Given the description of an element on the screen output the (x, y) to click on. 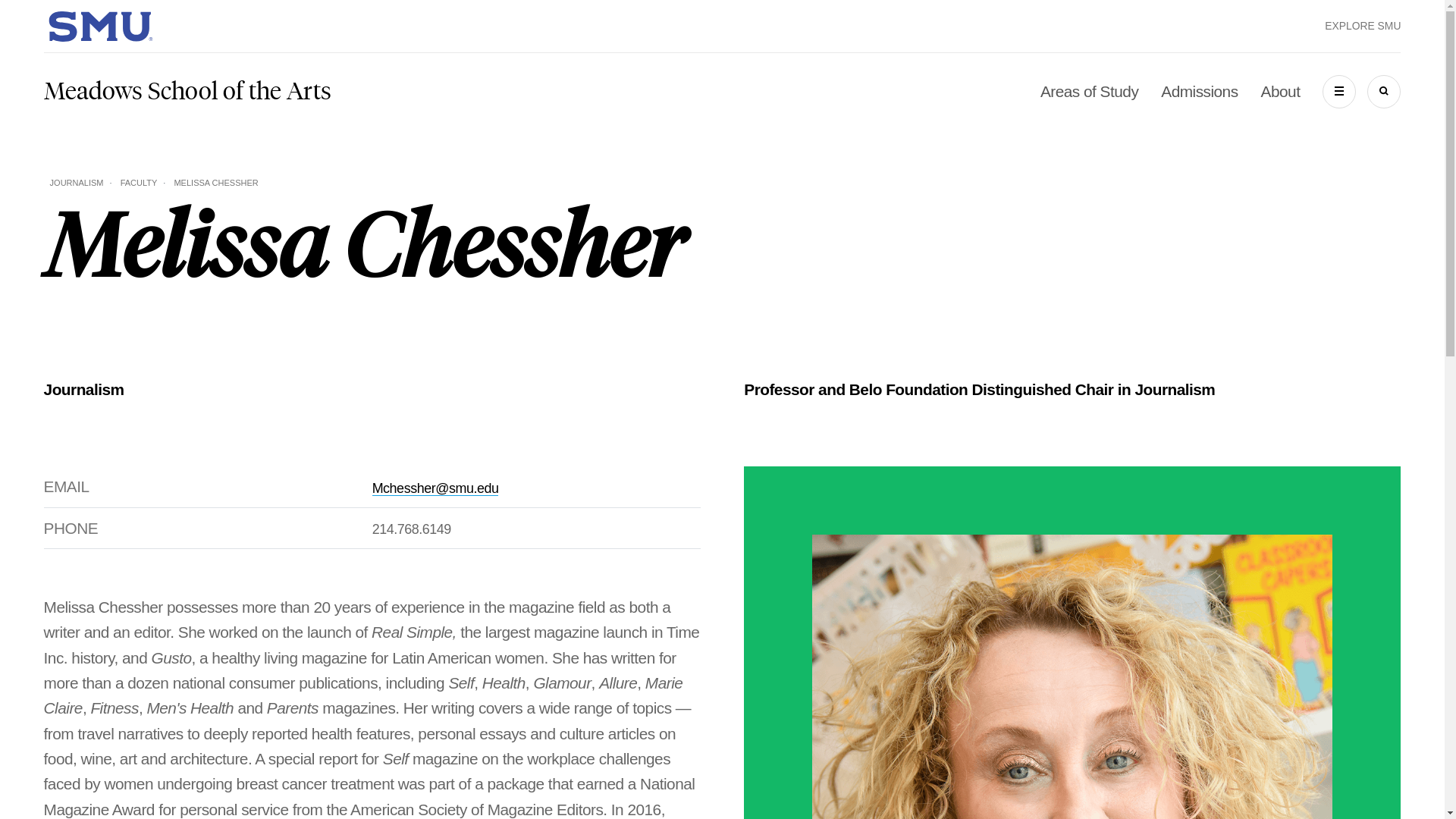
EXPLORE SMU (1362, 26)
Admissions (1198, 90)
JOURNALISM (76, 182)
MENU (1338, 91)
Areas of Study (1089, 90)
Meadows School of the Arts (187, 91)
About (1280, 90)
MELISSA CHESSHER (215, 182)
FACULTY (138, 182)
SEARCH (1383, 91)
